Given the description of an element on the screen output the (x, y) to click on. 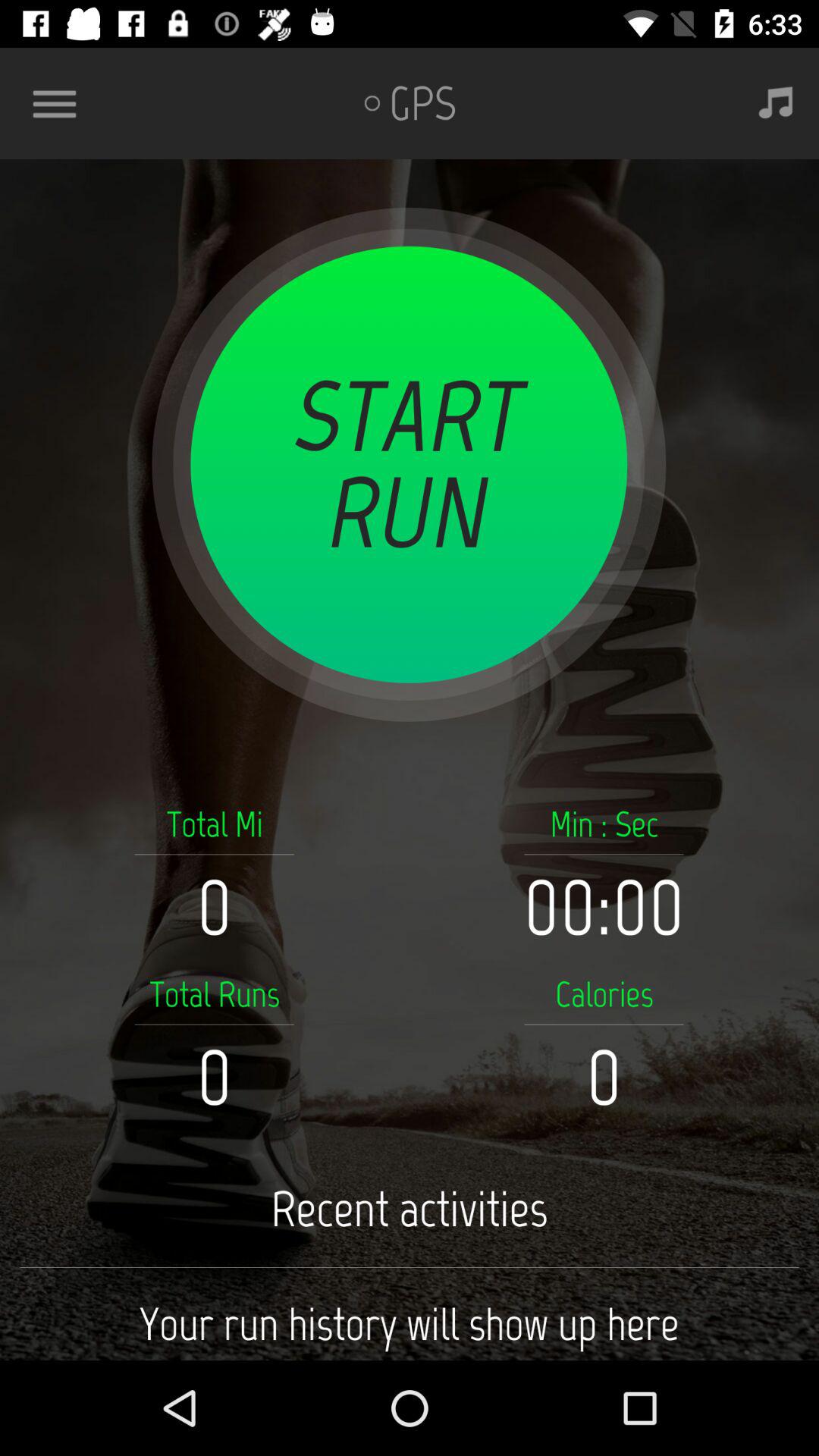
select music (776, 103)
